Given the description of an element on the screen output the (x, y) to click on. 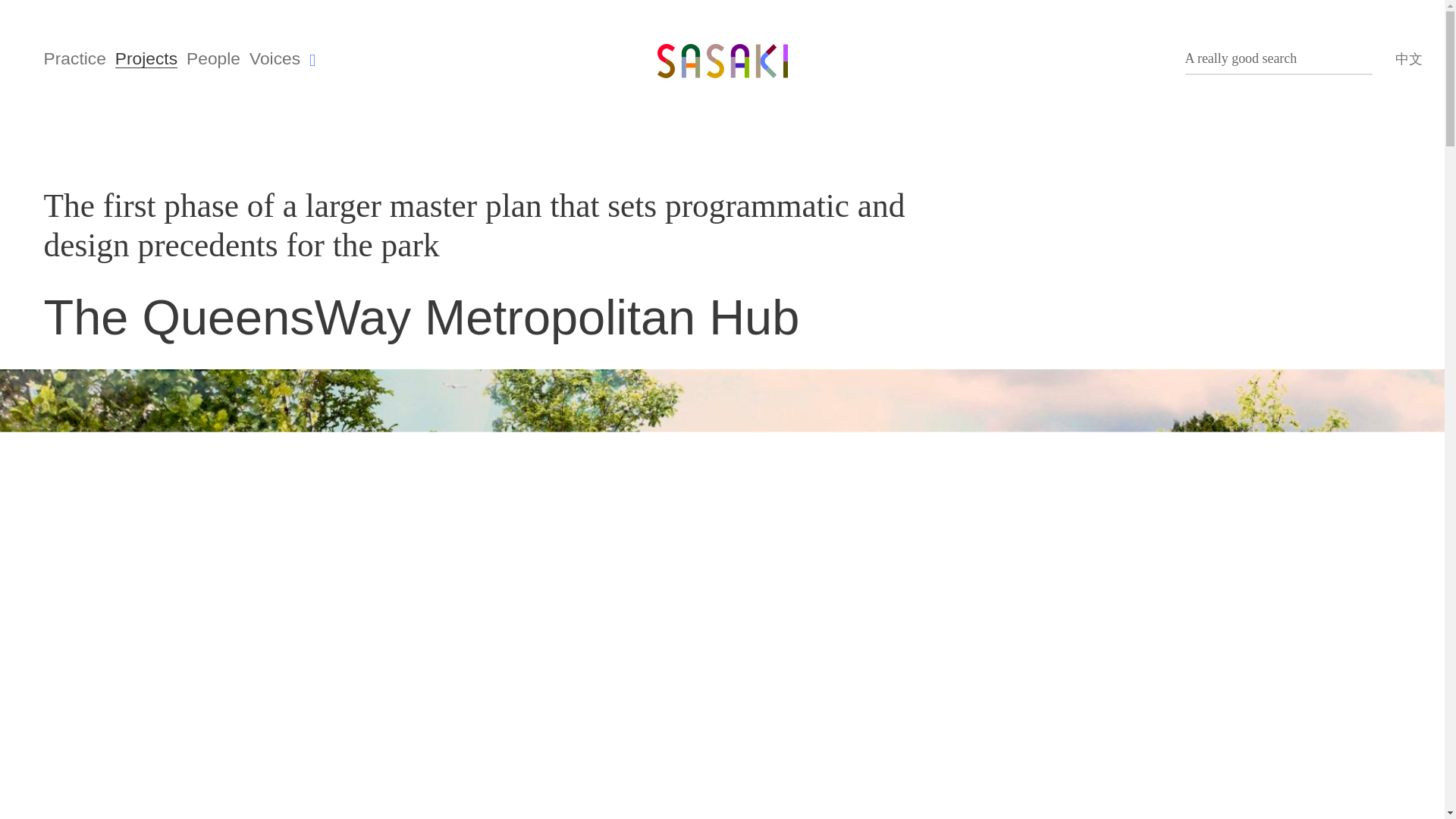
Voices (273, 57)
A really good search (1279, 60)
Sasaki (721, 55)
People (213, 57)
Practice (74, 57)
Projects (146, 57)
